Given the description of an element on the screen output the (x, y) to click on. 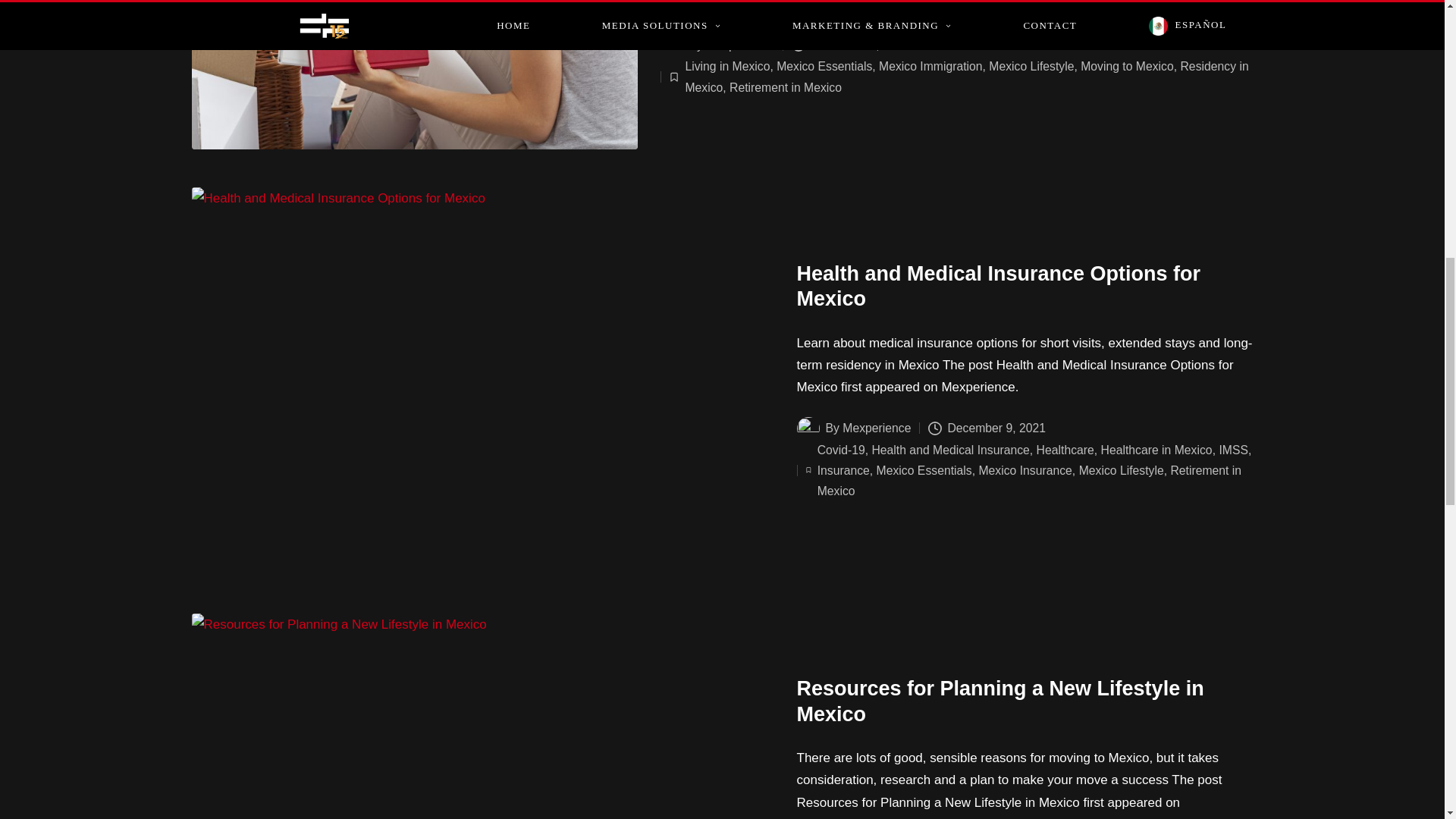
Resources for Planning a New Lifestyle in Mexico (1000, 701)
Health and Medical Insurance Options for Mexico (997, 286)
View all posts by Mexperience (740, 44)
View all posts by Mexperience (877, 427)
